Given the description of an element on the screen output the (x, y) to click on. 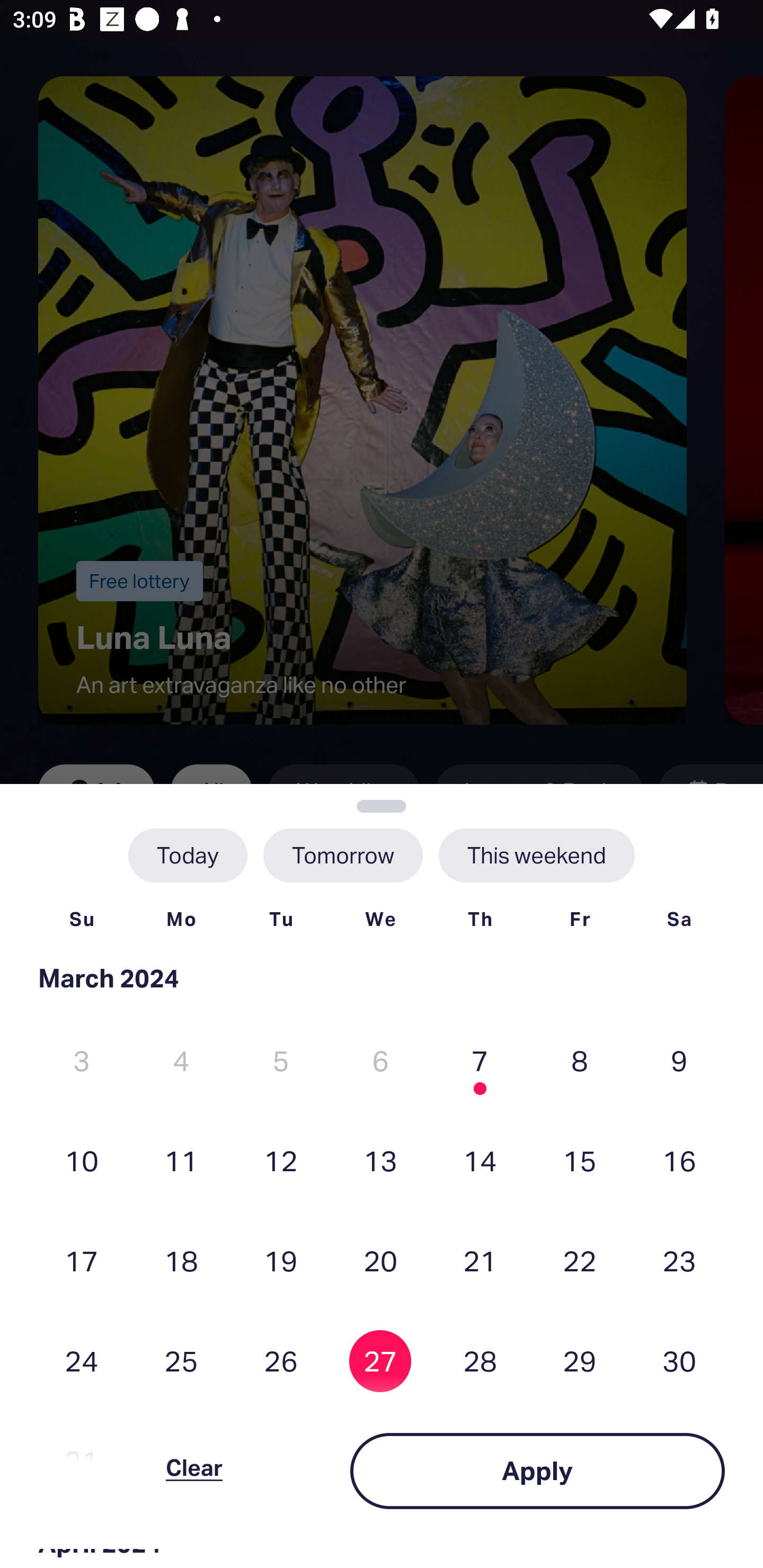
Today (187, 854)
Tomorrow (342, 854)
This weekend (536, 854)
3 (81, 1060)
4 (181, 1060)
5 (280, 1060)
6 (380, 1060)
7 (479, 1060)
8 (579, 1060)
9 (678, 1060)
10 (81, 1160)
11 (181, 1160)
12 (280, 1160)
13 (380, 1160)
14 (479, 1160)
15 (579, 1160)
16 (678, 1160)
17 (81, 1260)
18 (181, 1260)
19 (280, 1260)
20 (380, 1260)
21 (479, 1260)
22 (579, 1260)
23 (678, 1260)
24 (81, 1360)
25 (181, 1360)
26 (280, 1360)
27 (380, 1360)
28 (479, 1360)
29 (579, 1360)
30 (678, 1360)
Clear (194, 1470)
Apply (537, 1470)
